Given the description of an element on the screen output the (x, y) to click on. 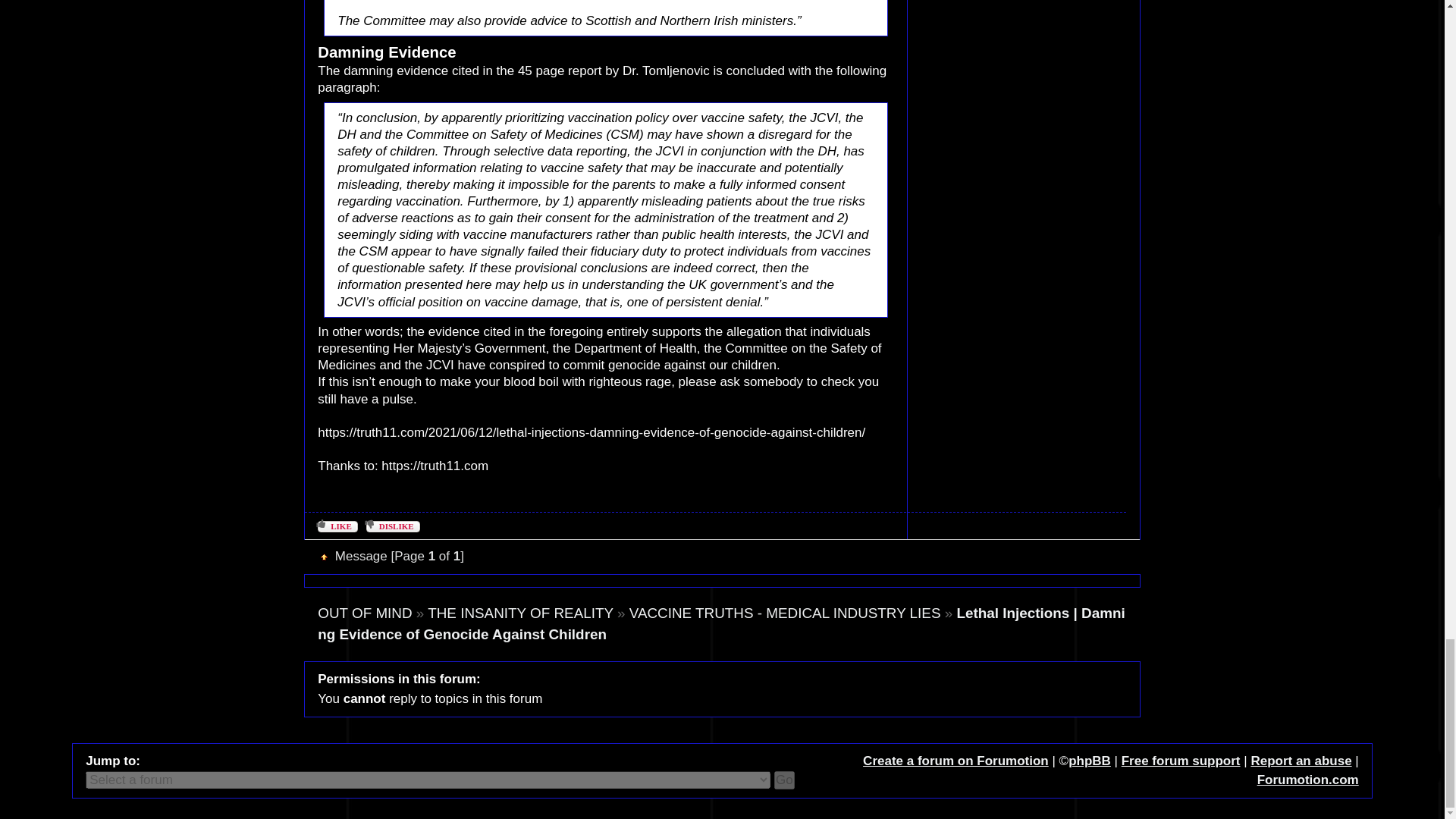
Go (784, 780)
